Given the description of an element on the screen output the (x, y) to click on. 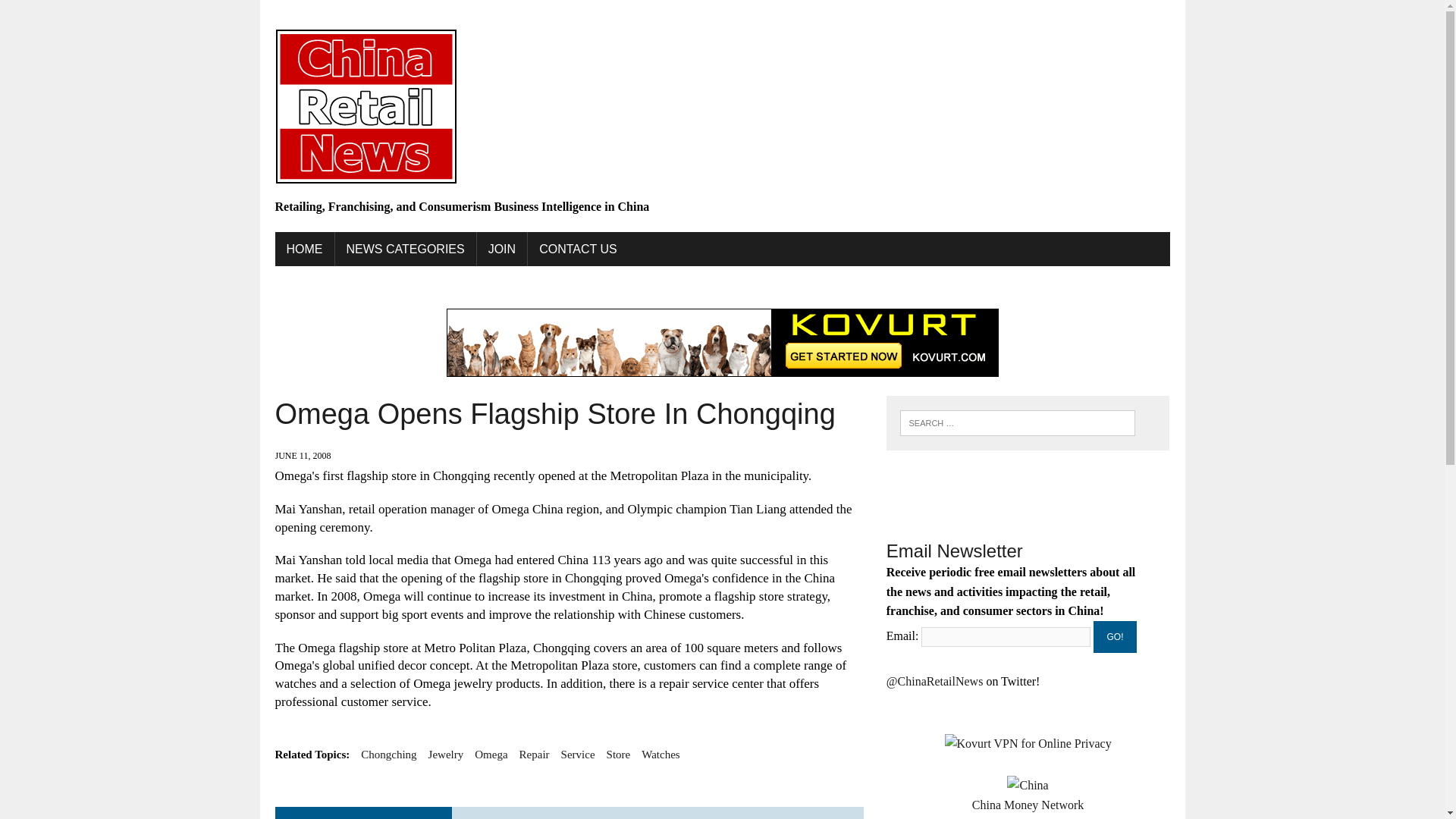
NEWS CATEGORIES (405, 248)
HOME (304, 248)
 GO!  (1115, 636)
Watches (660, 754)
Jewelry (446, 754)
Contact Us (577, 248)
Join (502, 248)
Store (618, 754)
Chongching (388, 754)
